Given the description of an element on the screen output the (x, y) to click on. 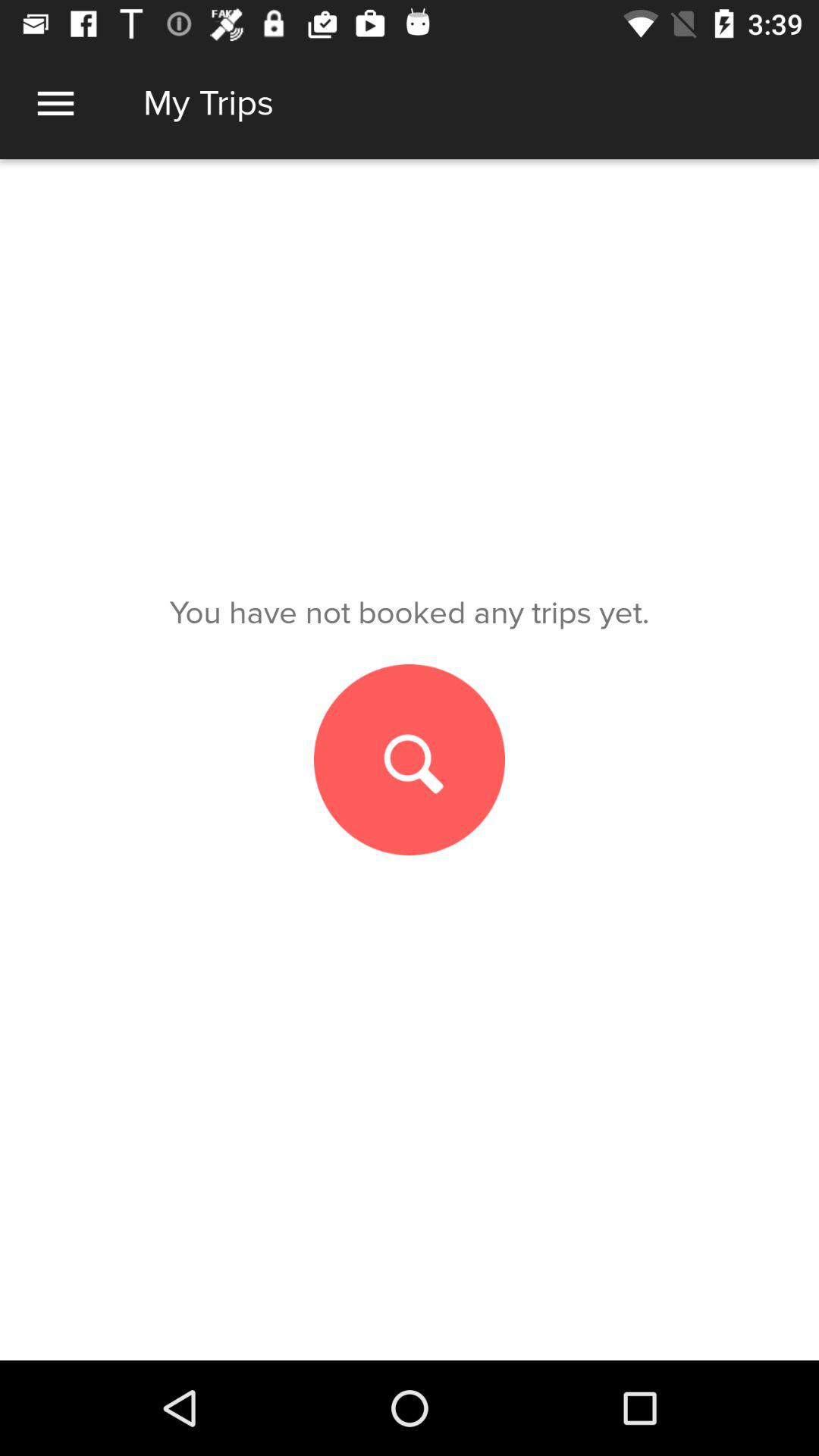
options (55, 103)
